Given the description of an element on the screen output the (x, y) to click on. 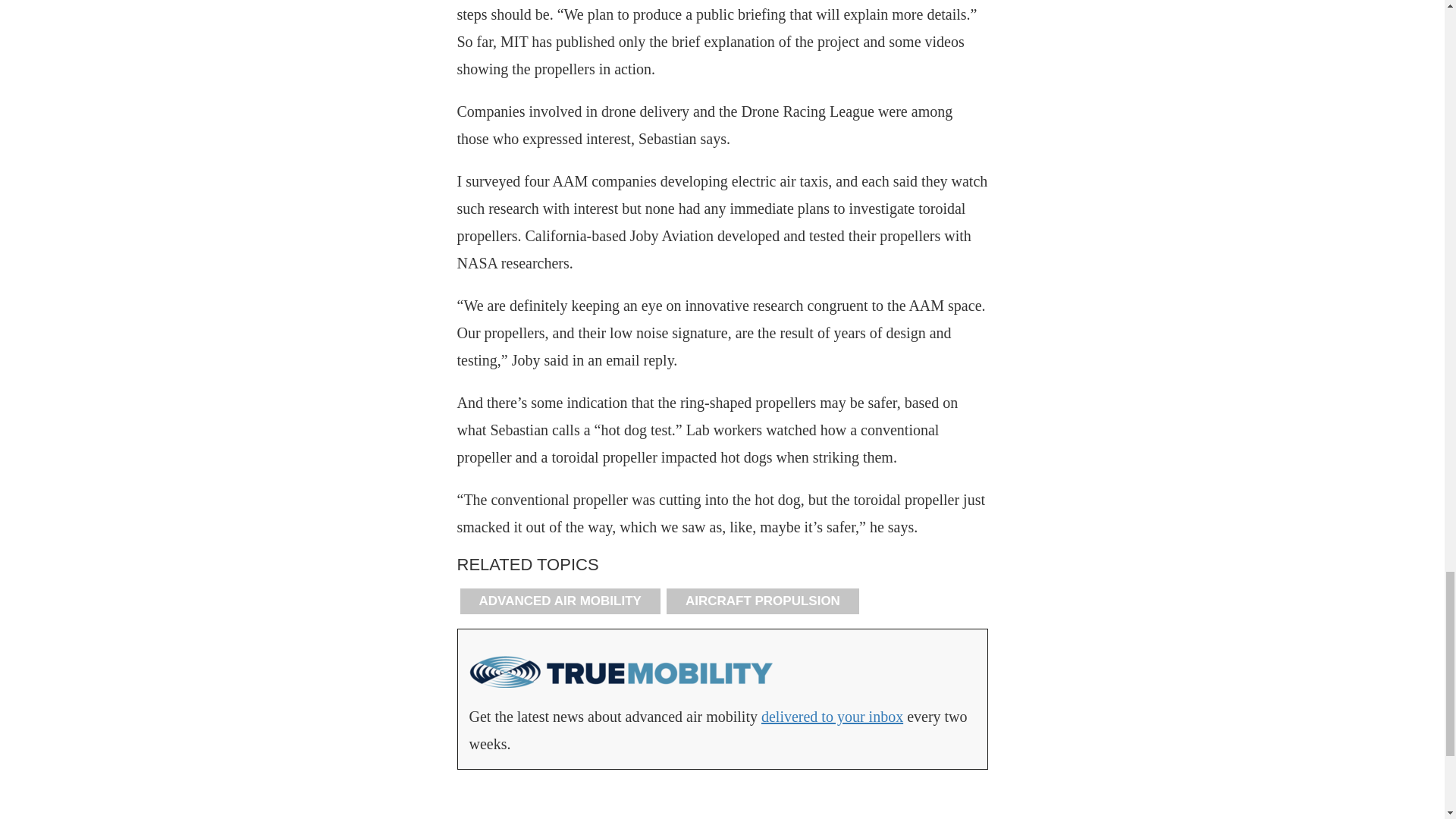
AIRCRAFT PROPULSION (762, 600)
ADVANCED AIR MOBILITY (560, 600)
delivered to your inbox (831, 716)
